Given the description of an element on the screen output the (x, y) to click on. 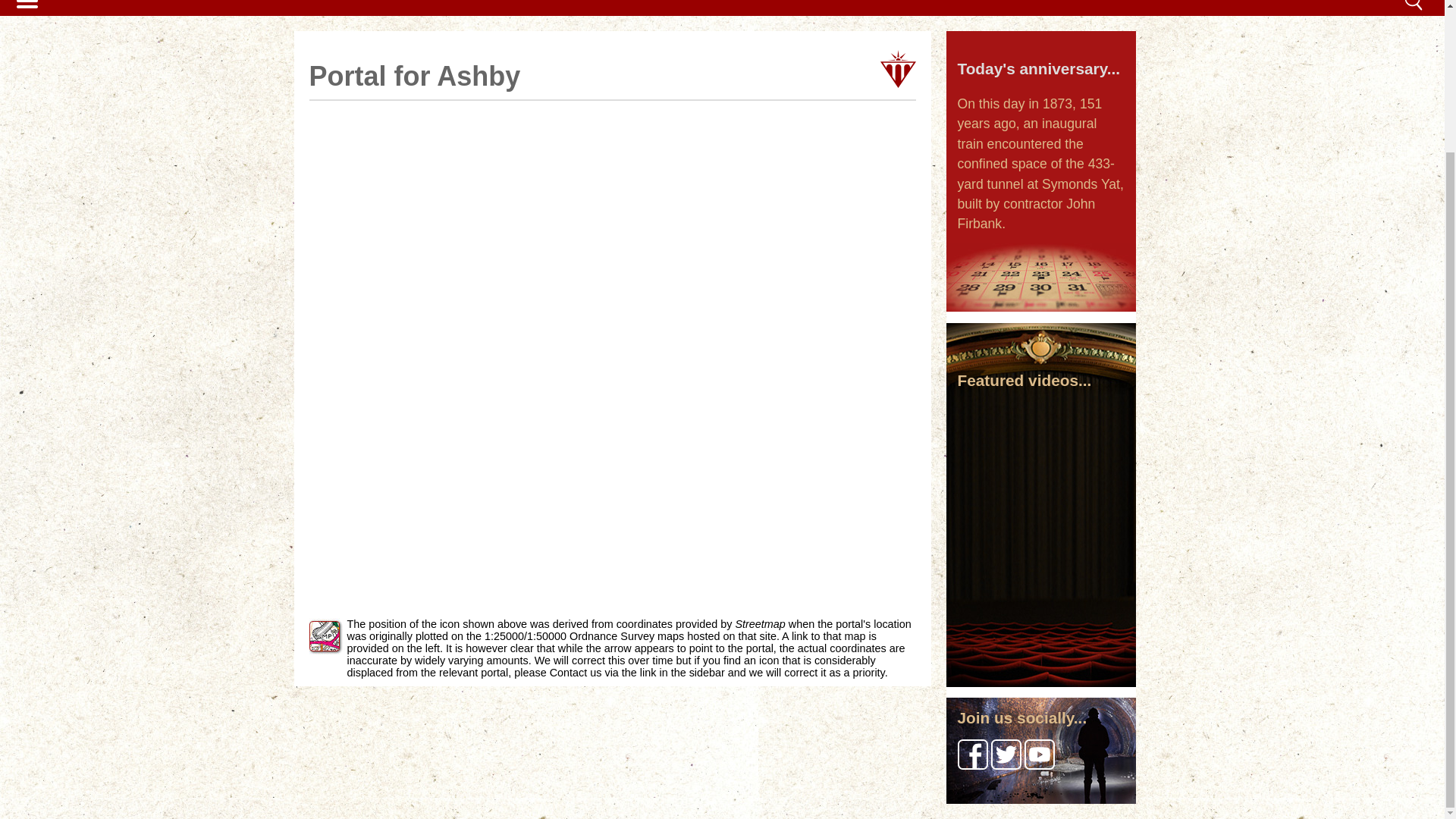
YouTube video player (1040, 549)
YouTube video player (1040, 451)
